Given the description of an element on the screen output the (x, y) to click on. 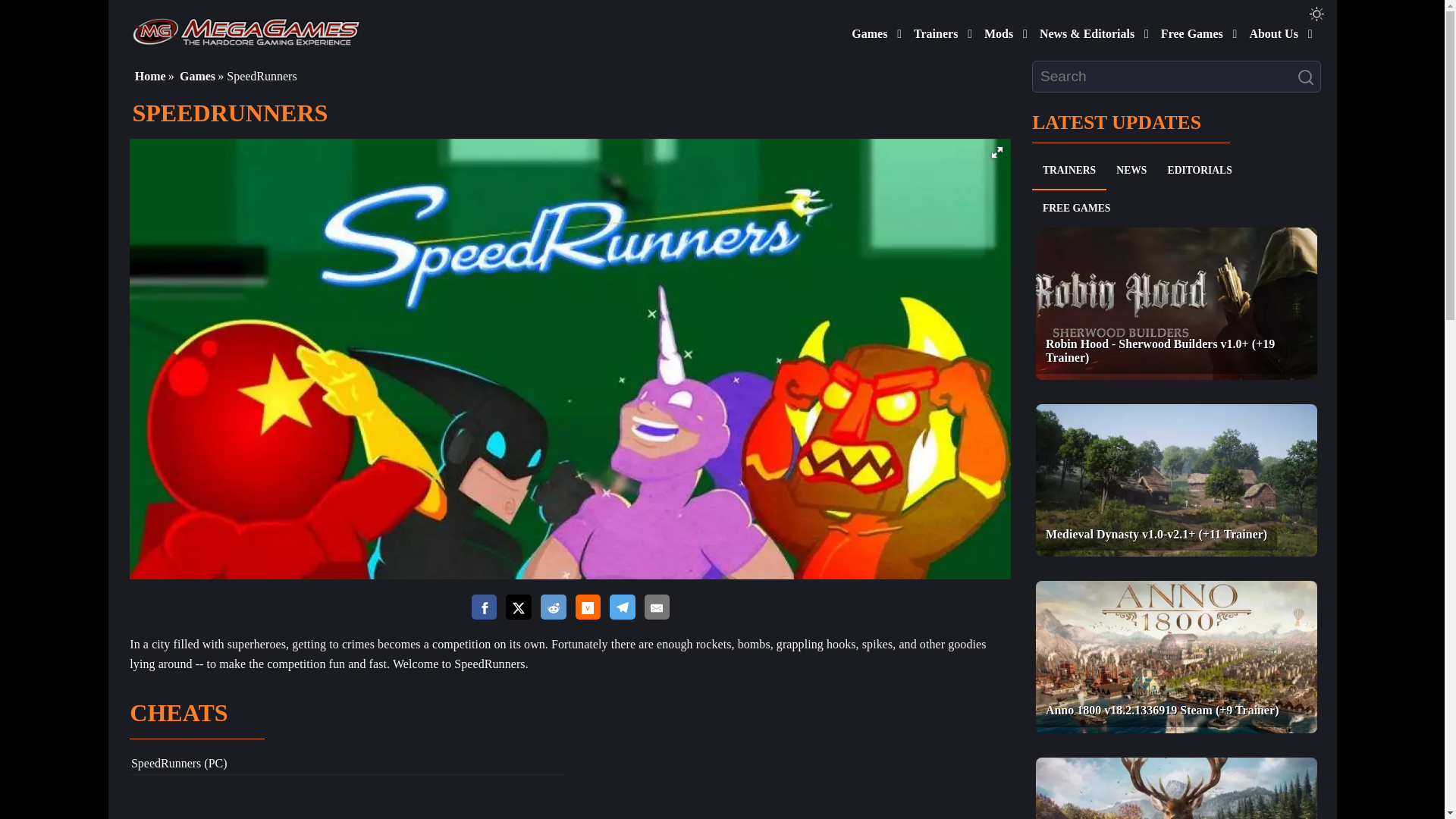
Search (1308, 77)
Telegram Share (621, 607)
Trainers (932, 31)
Reddit Share (553, 607)
X (518, 607)
Facebook Share (484, 607)
Games (866, 31)
Hacker News Share (587, 607)
Twitter Share (518, 608)
megagames.com (245, 30)
Email Share (656, 607)
SpeedRunners (165, 762)
